Given the description of an element on the screen output the (x, y) to click on. 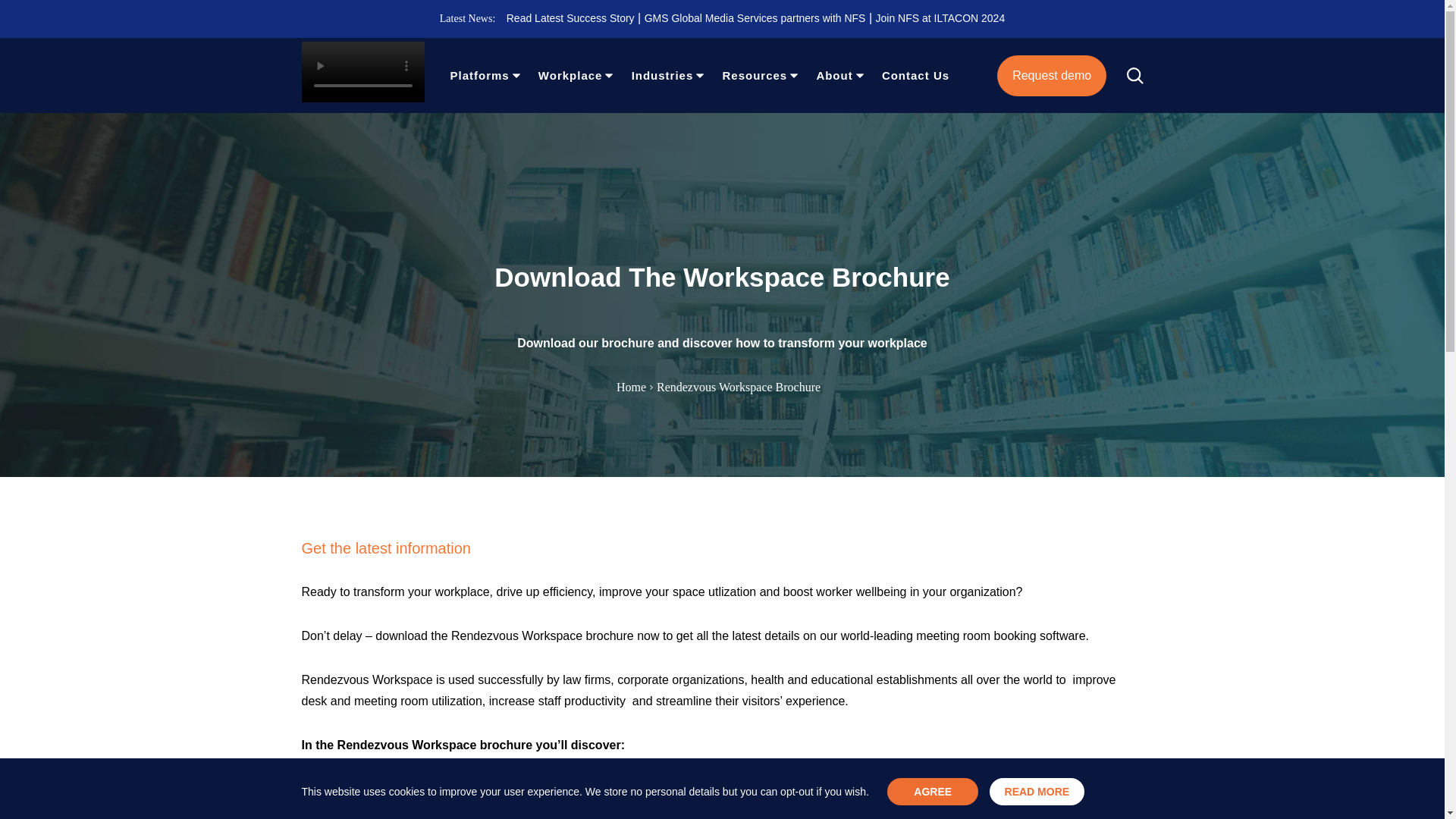
Go to  Home. (634, 386)
